Given the description of an element on the screen output the (x, y) to click on. 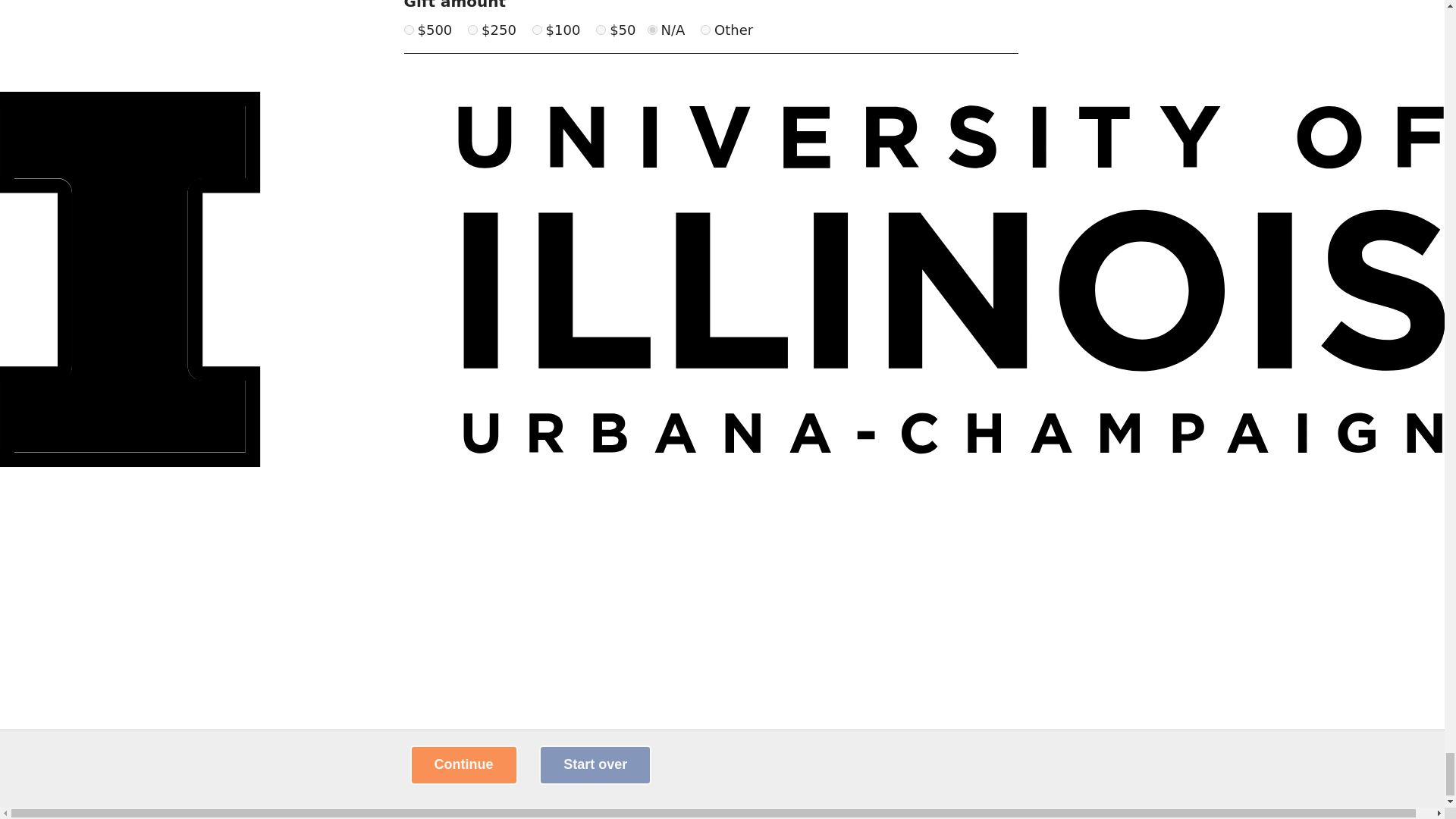
250.00 (472, 30)
500.00 (408, 30)
0 (652, 30)
0 (705, 30)
50.00 (600, 30)
100.00 (536, 30)
